Given the description of an element on the screen output the (x, y) to click on. 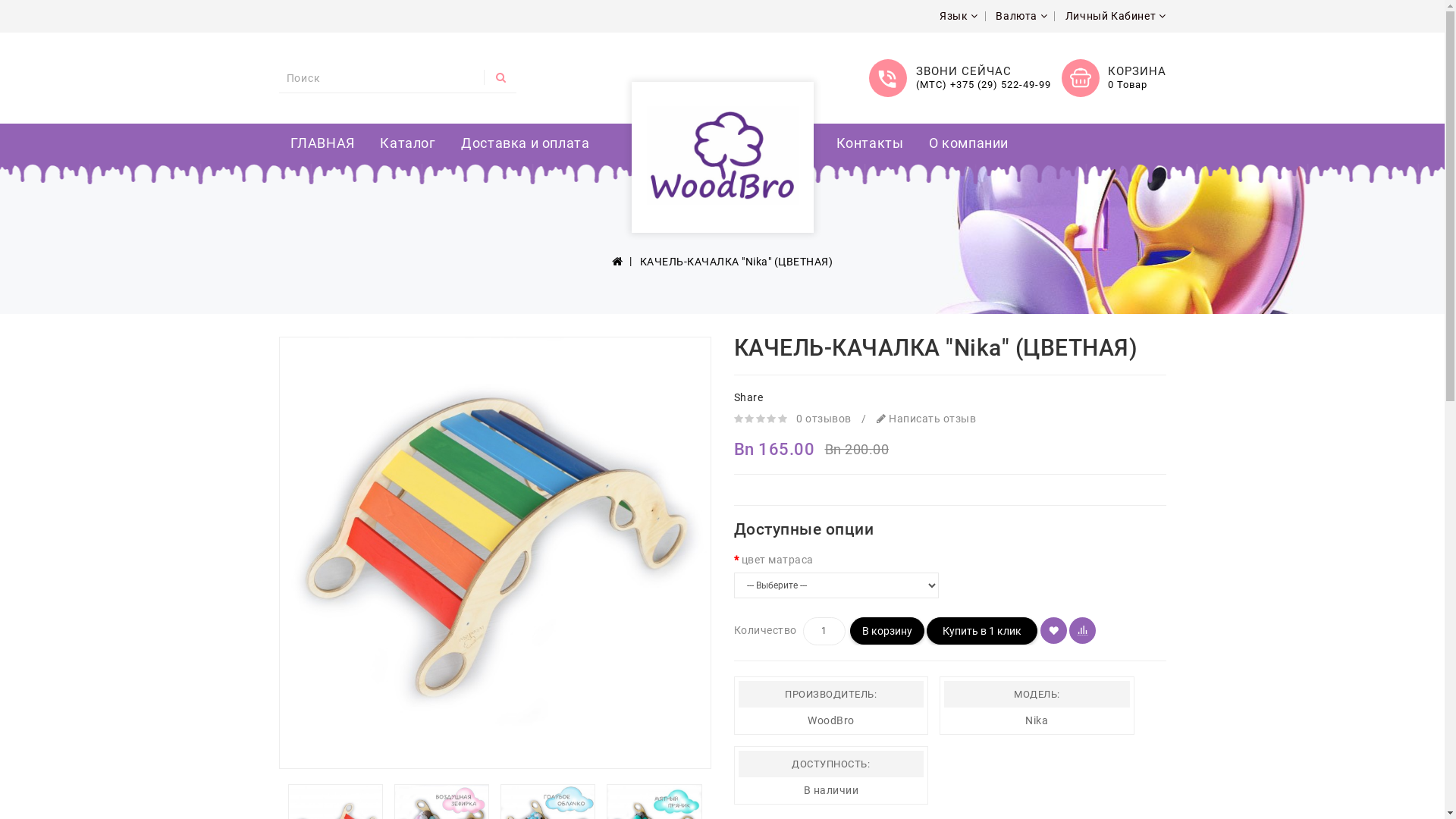
WoodBro Element type: hover (721, 155)
WoodBro Element type: text (830, 720)
